Given the description of an element on the screen output the (x, y) to click on. 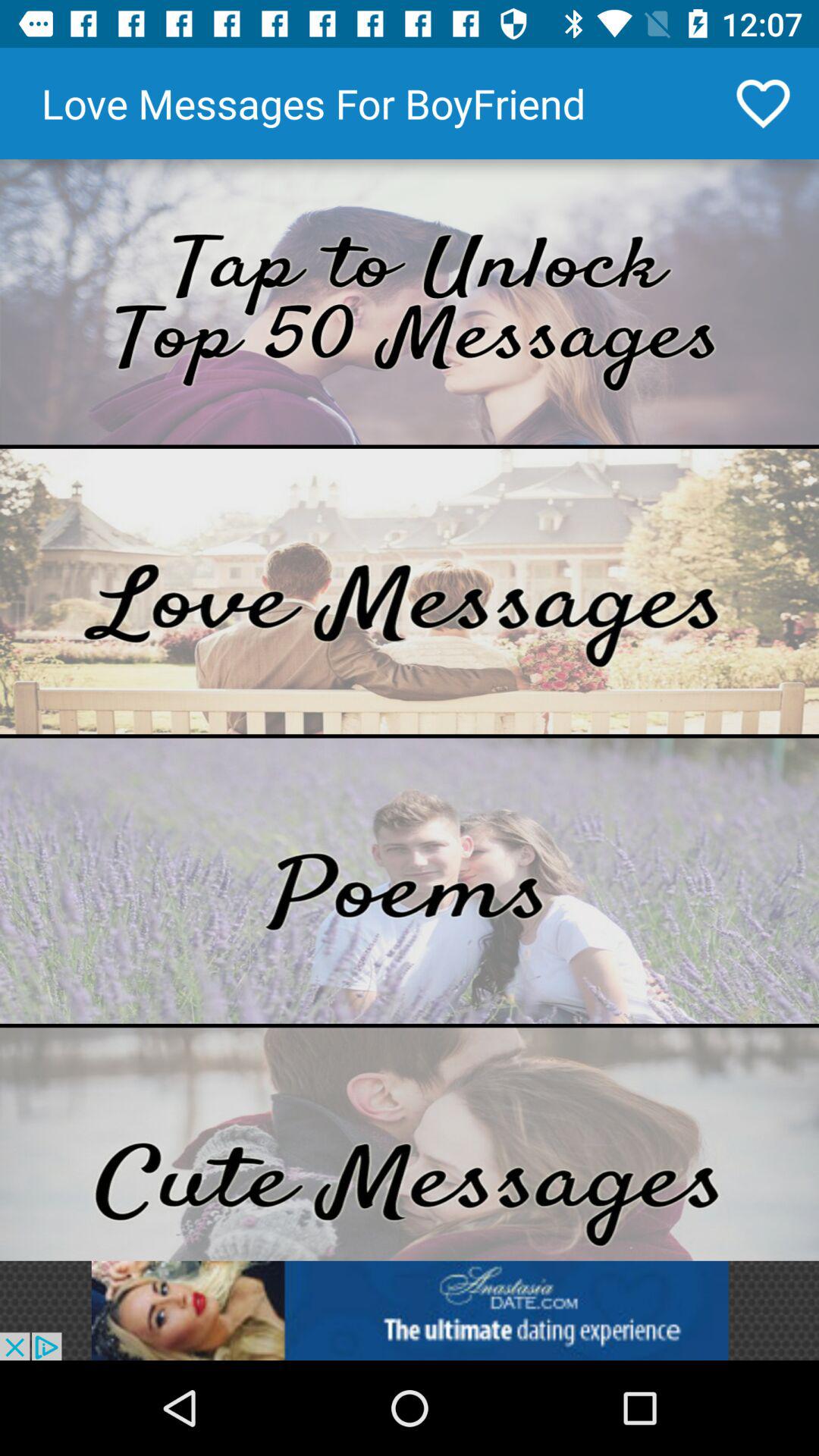
messages (409, 1143)
